Given the description of an element on the screen output the (x, y) to click on. 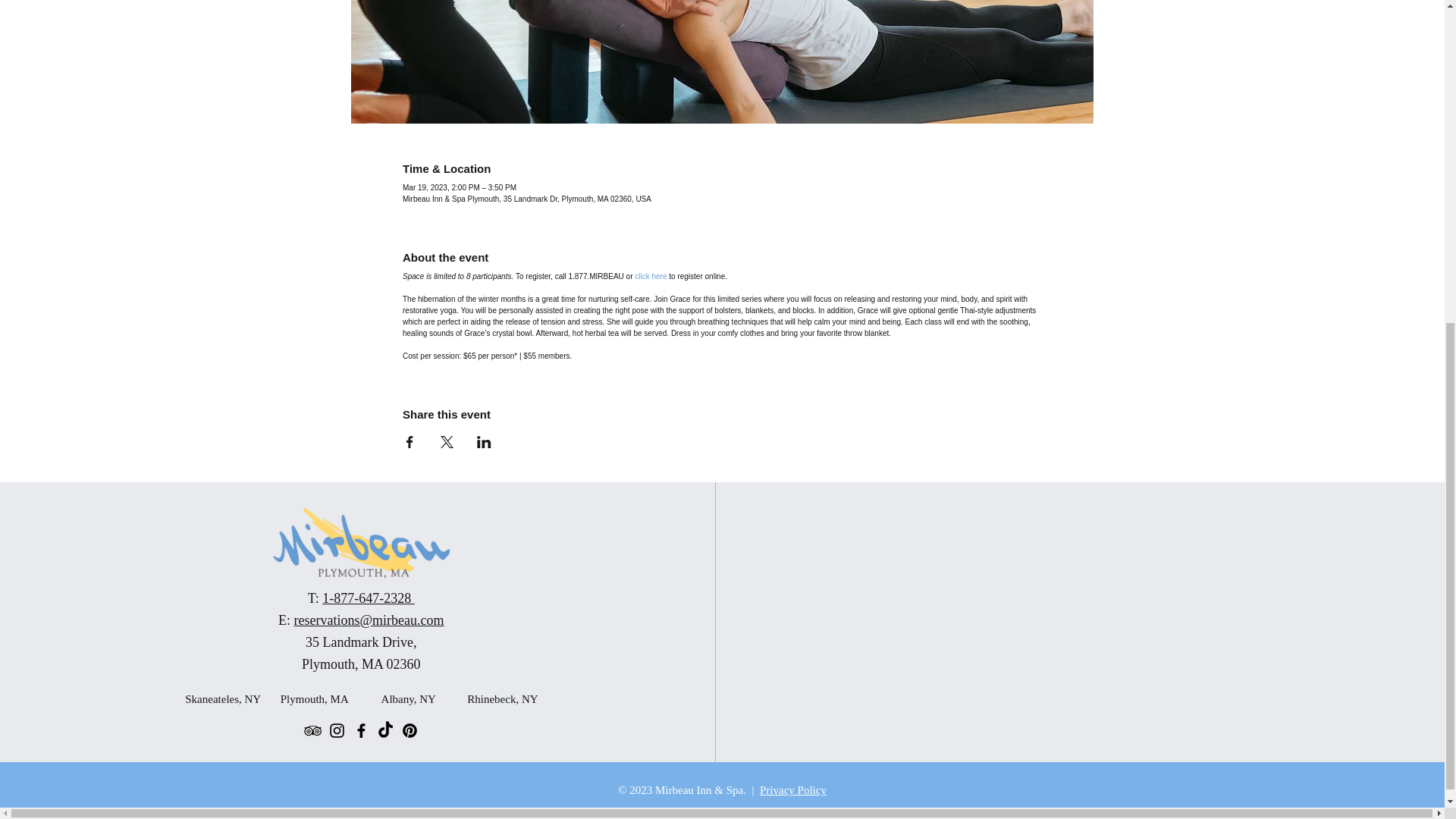
Albany, NY (407, 698)
click here (650, 275)
Skaneateles, NY (219, 698)
1-877-647-2328  (367, 598)
Privacy Policy (793, 789)
Rhinebeck, NY (501, 698)
Plymouth, MA (313, 698)
